Given the description of an element on the screen output the (x, y) to click on. 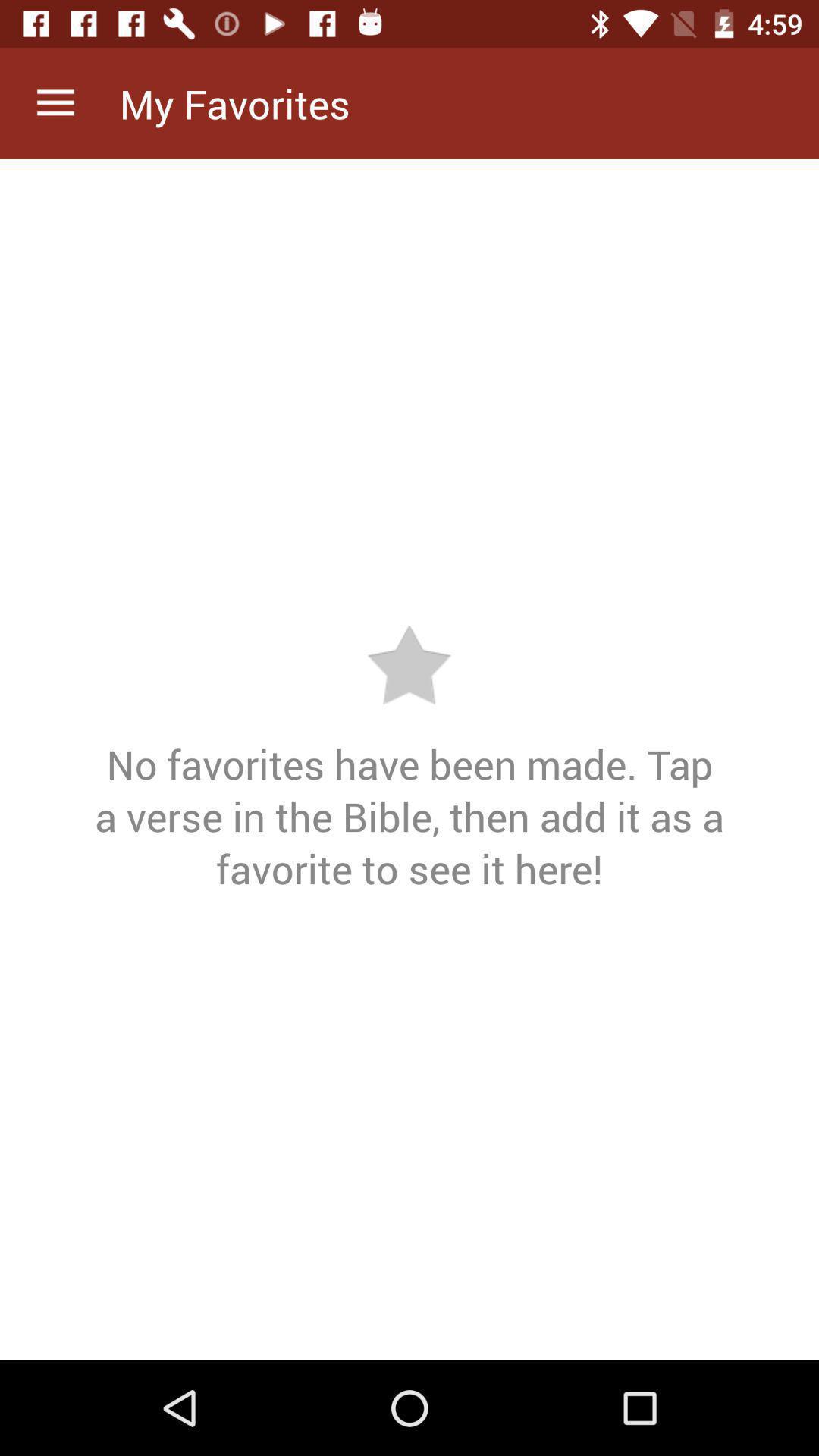
turn off the item next to my favorites item (55, 103)
